Given the description of an element on the screen output the (x, y) to click on. 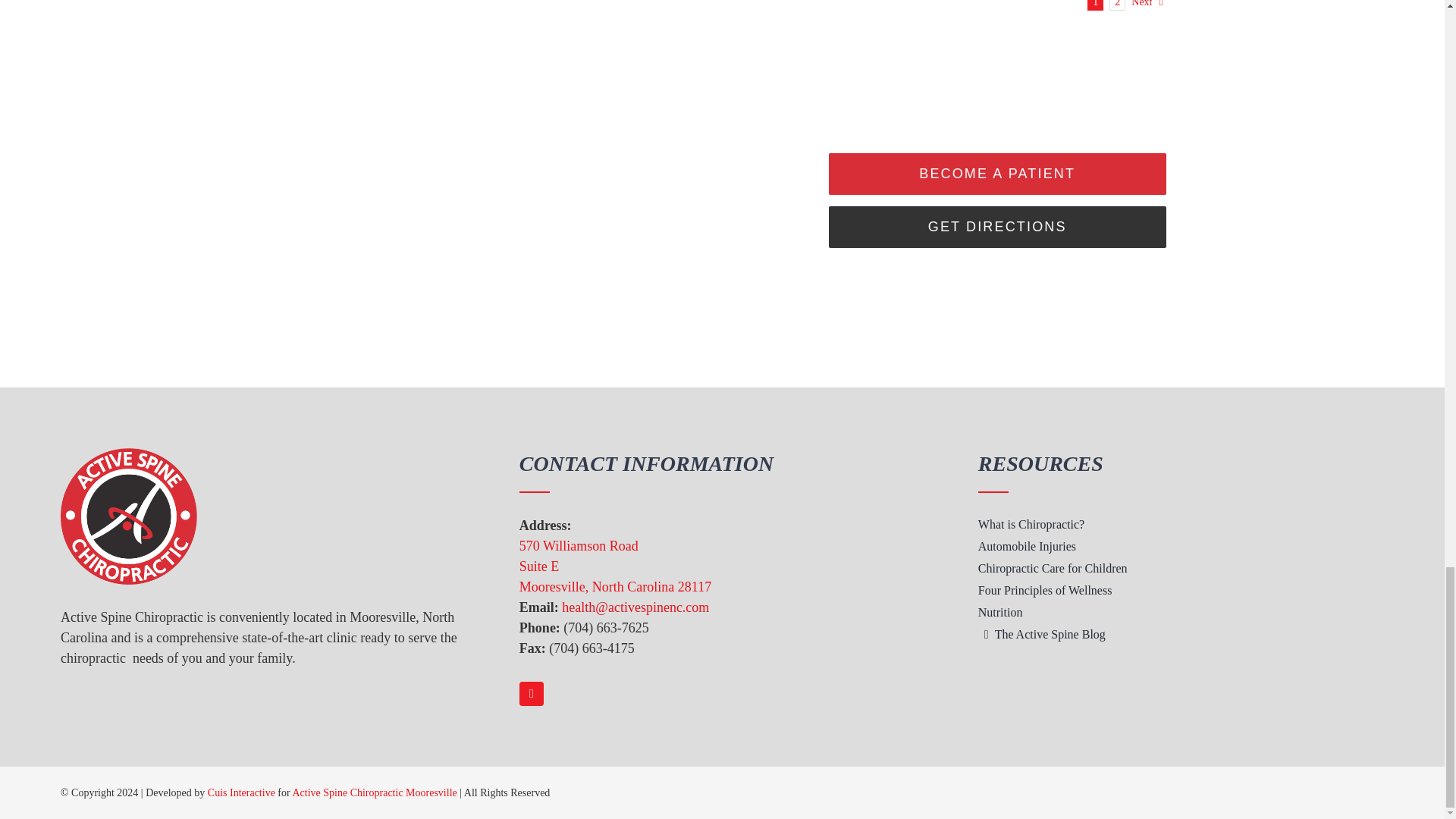
Active Spine Chiropractic in Mooresville, North Carolina (128, 515)
